Given the description of an element on the screen output the (x, y) to click on. 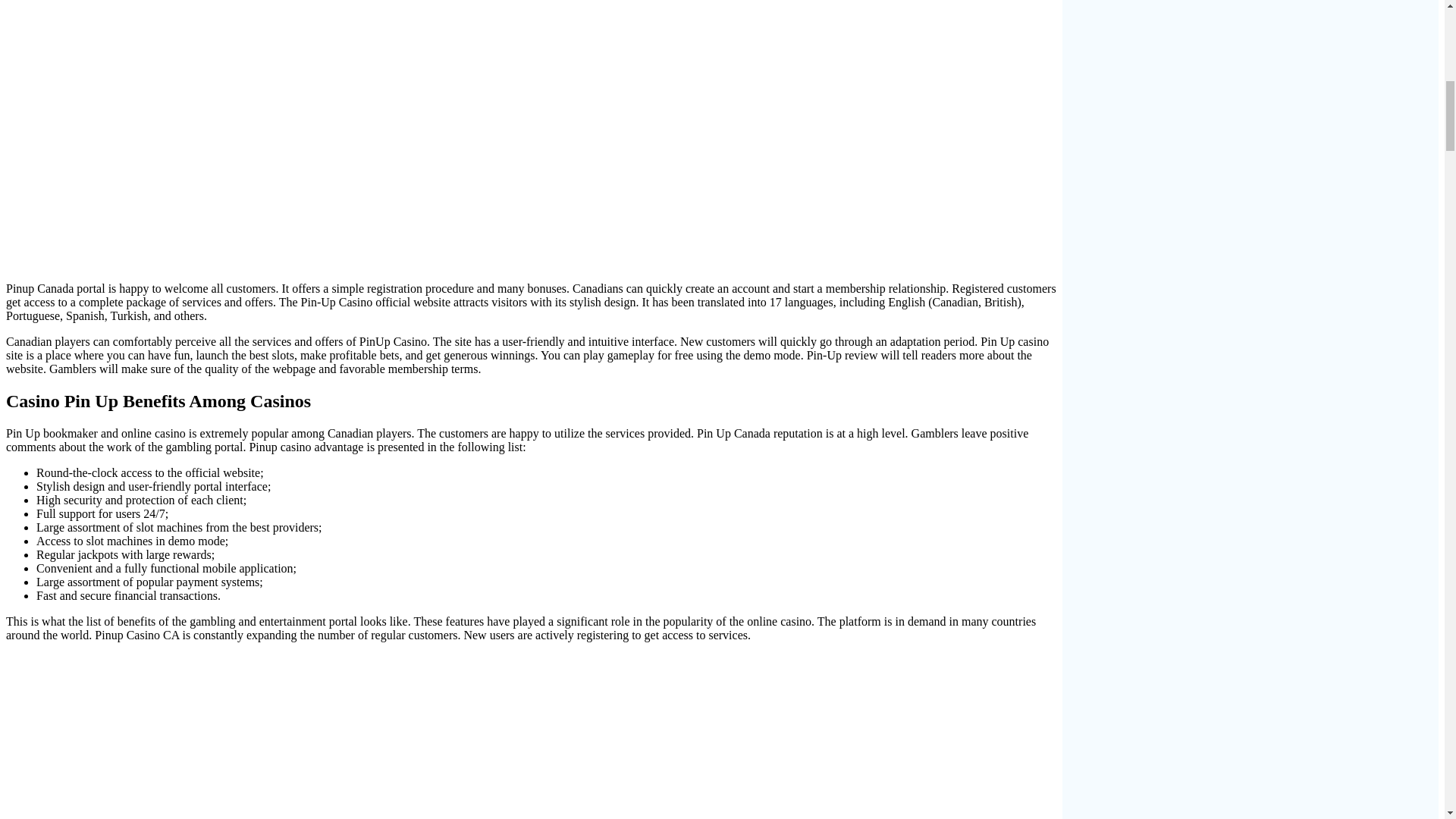
PinUp (338, 736)
